Given the description of an element on the screen output the (x, y) to click on. 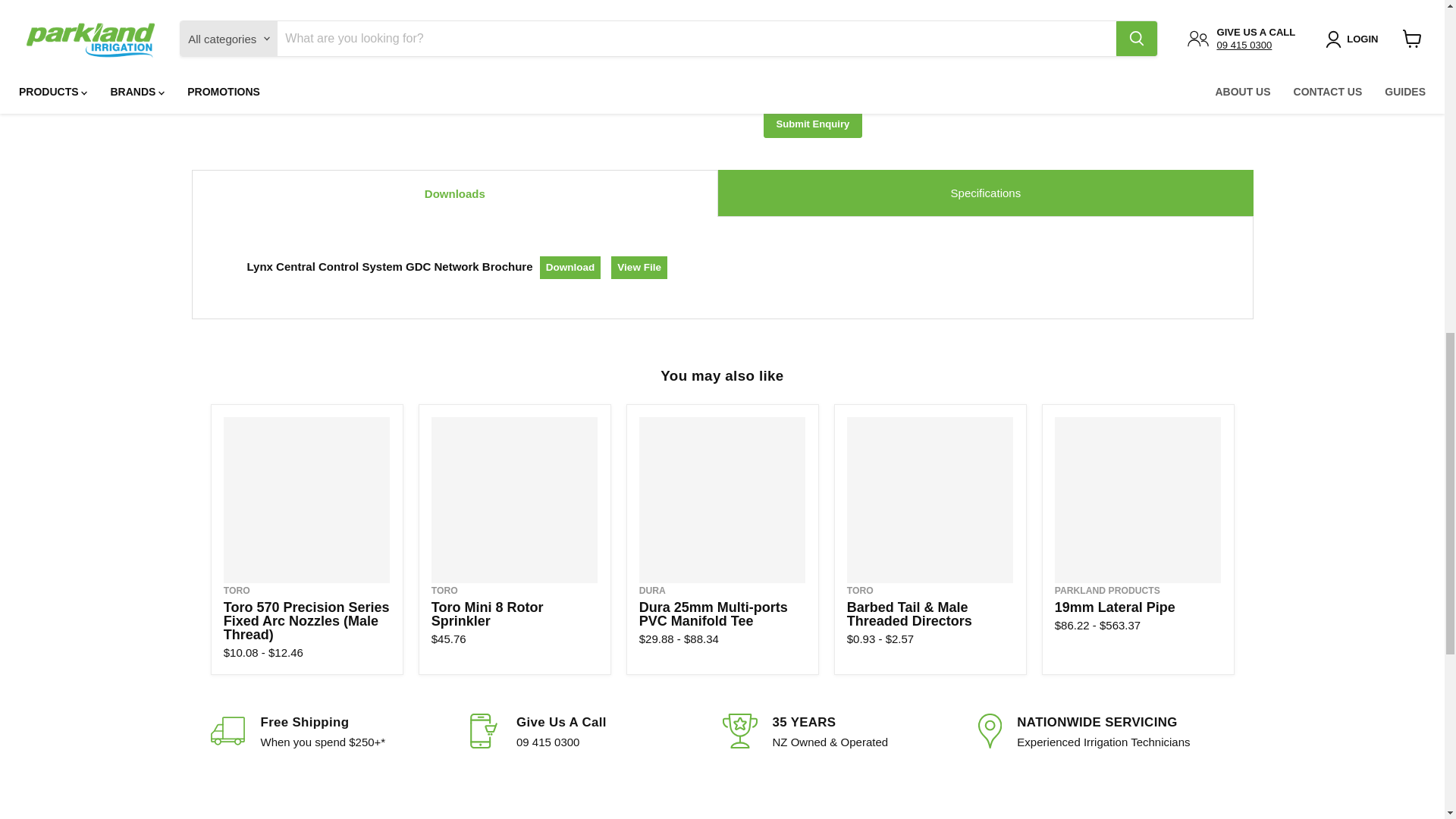
Toro (860, 590)
Toro (237, 590)
Dura (652, 590)
Toro (444, 590)
Parkland Products (1107, 590)
